Given the description of an element on the screen output the (x, y) to click on. 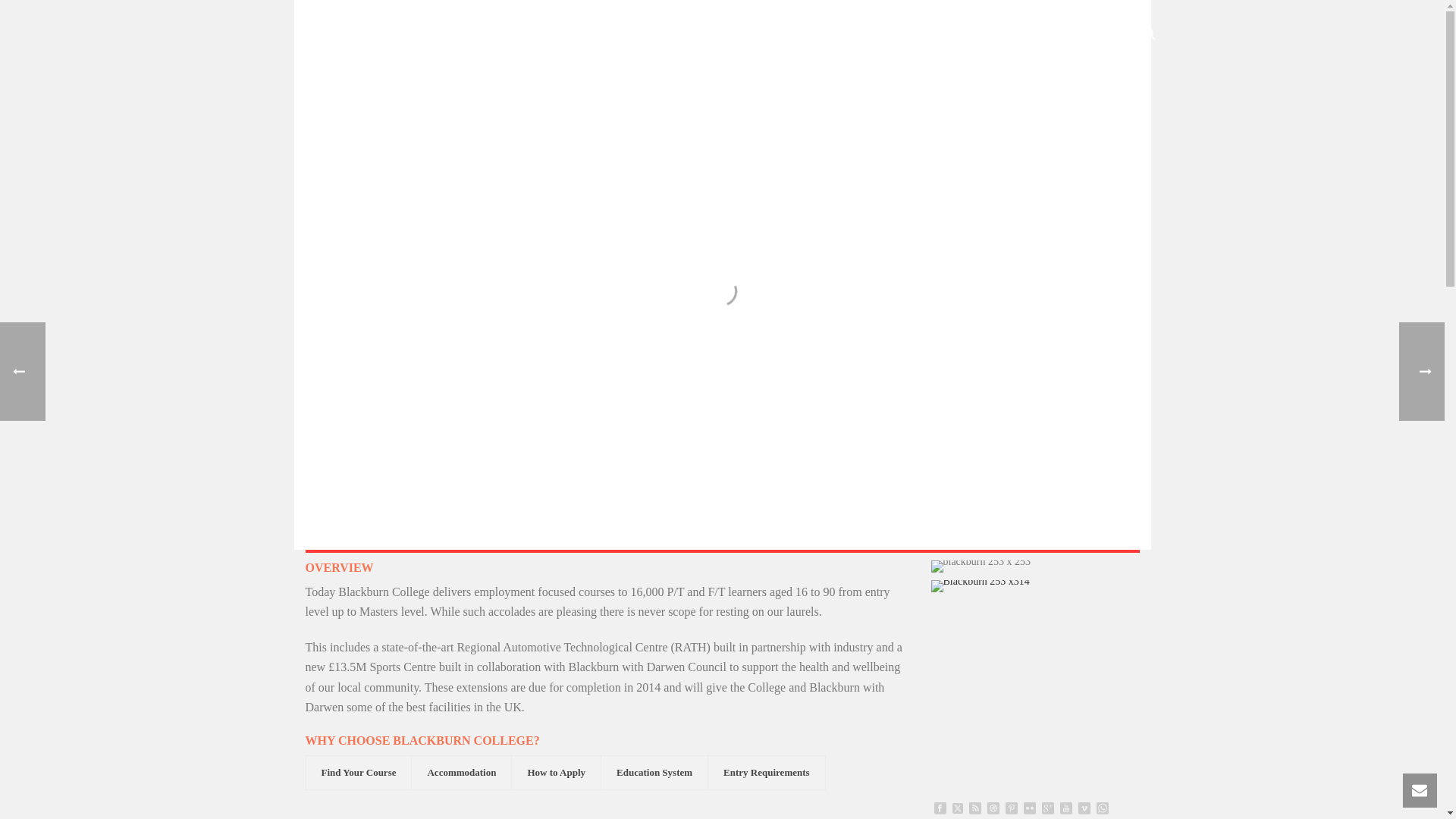
CONTACT US (1085, 34)
APPLY NOW (994, 34)
Best Education Consultancy Firm in Pakistan (379, 33)
AUSTRALIAN INSTITUTIONS (865, 34)
Blackburn 253 x314 (980, 585)
EVENTS (745, 34)
HR AUSTRALIA (658, 34)
APPLY NOW (994, 34)
blackburn 253 x 253 (980, 566)
AUSTRALIAN INSTITUTIONS (865, 34)
HR AUSTRALIA (658, 34)
HR HOME (566, 34)
HR HOME (566, 34)
EVENTS (745, 34)
CONTACT US (1085, 34)
